Given the description of an element on the screen output the (x, y) to click on. 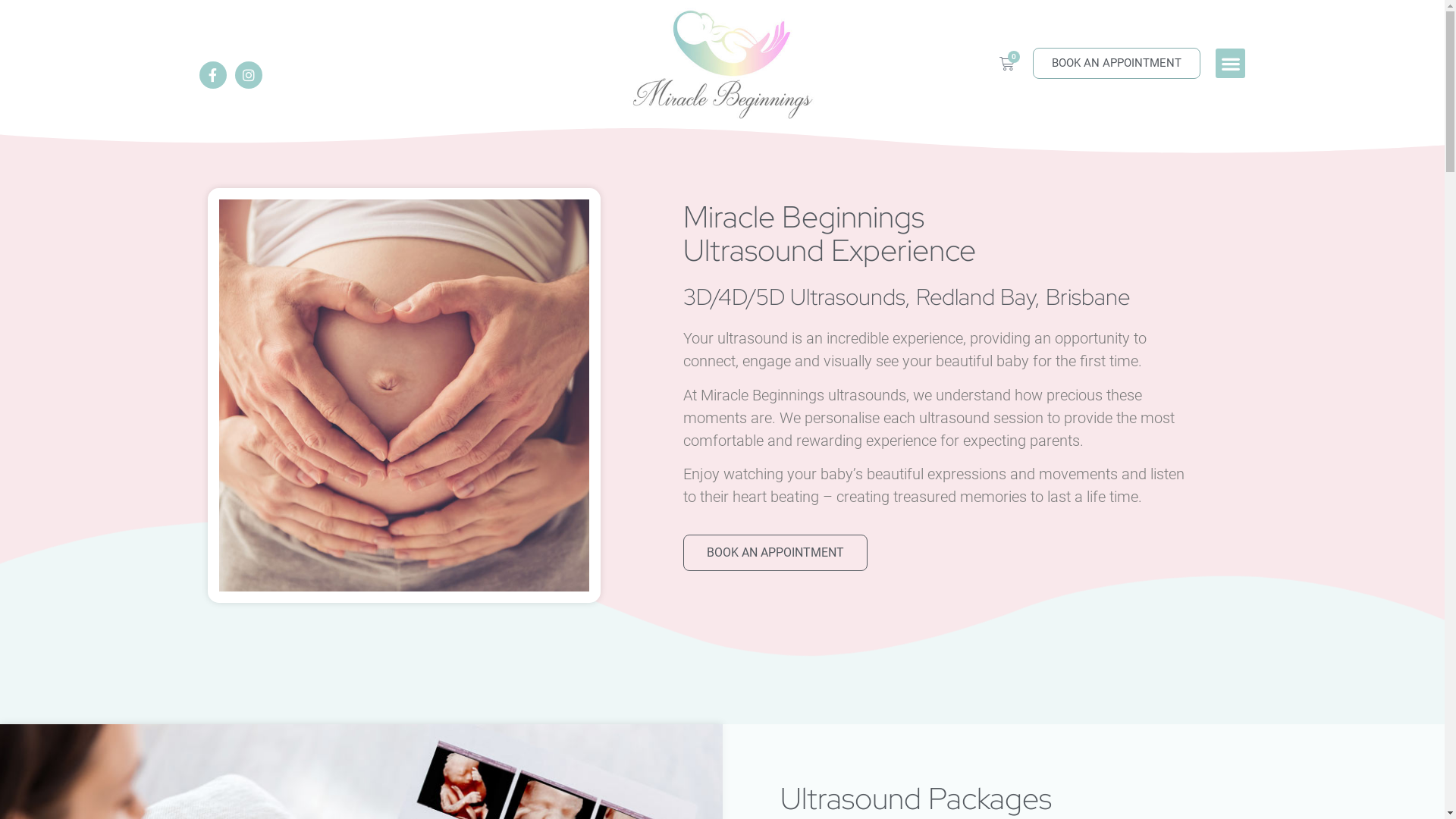
BOOK AN APPOINTMENT Element type: text (775, 552)
BOOK AN APPOINTMENT Element type: text (1116, 62)
0 Element type: text (1006, 63)
